Given the description of an element on the screen output the (x, y) to click on. 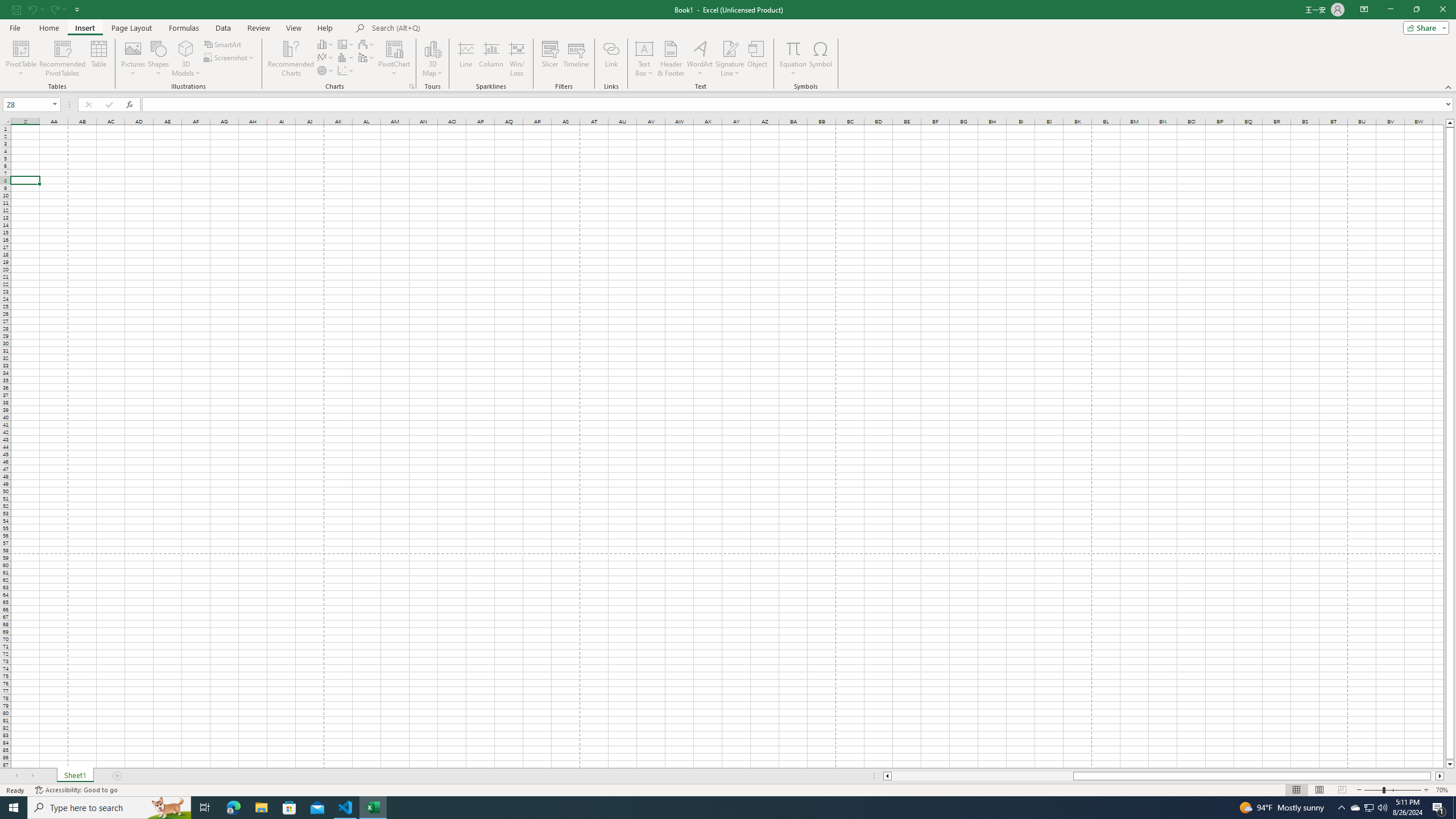
Draw Horizontal Text Box (643, 48)
Pictures (133, 58)
Shapes (158, 58)
Recommended PivotTables (62, 58)
3D Map (432, 48)
